Given the description of an element on the screen output the (x, y) to click on. 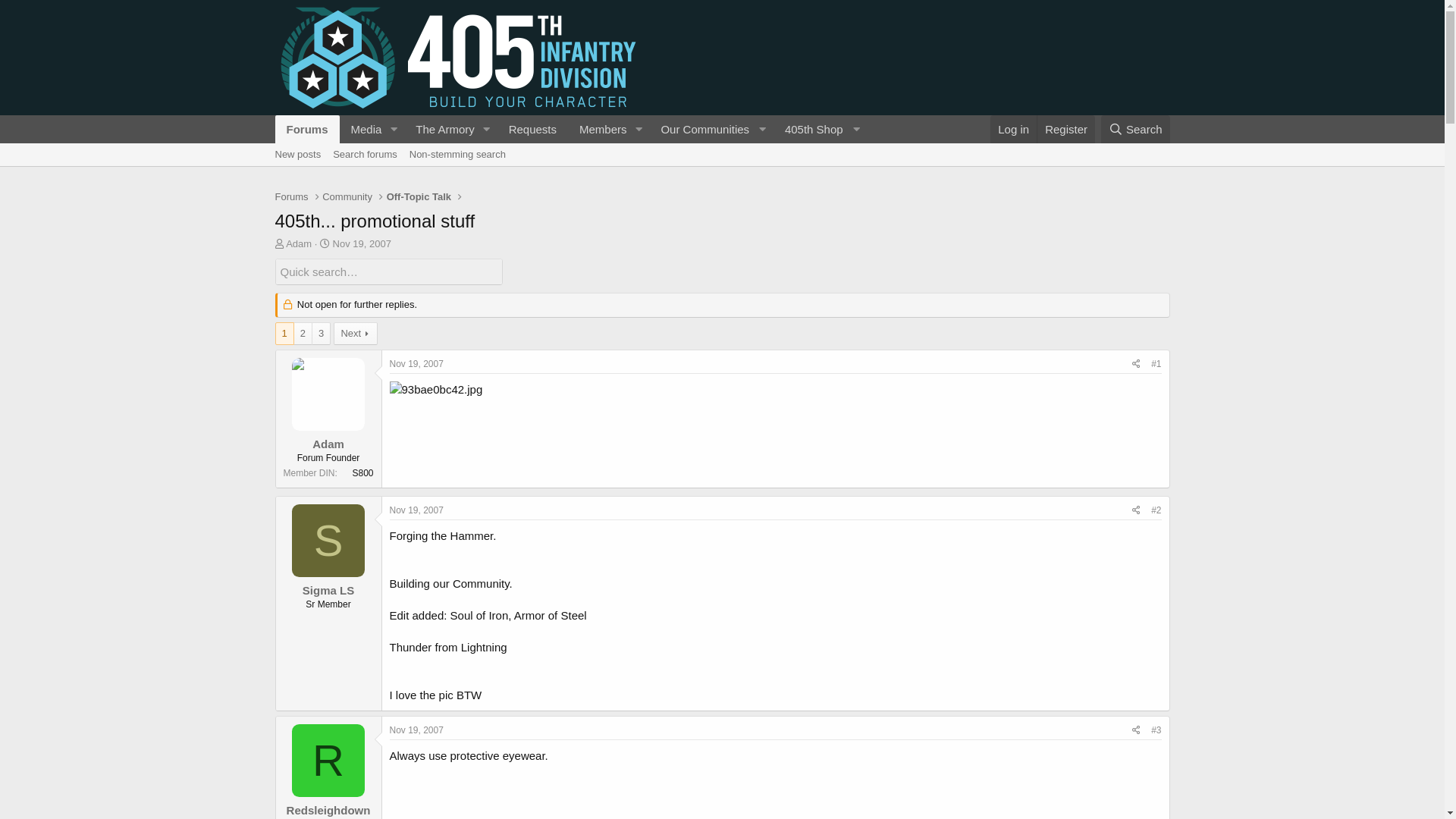
Search Element type: text (1135, 129)
Forums Element type: text (306, 129)
Sigma LS Element type: text (328, 589)
Community Element type: text (347, 196)
Adam Element type: text (298, 243)
#1 Element type: text (1156, 363)
Thread starter Element type: hover (278, 243)
Next Element type: text (355, 333)
Log in Element type: text (1013, 129)
Forums Element type: text (290, 196)
3 Element type: text (320, 333)
Our Communities Element type: text (710, 129)
Requests Element type: text (532, 129)
Nov 19, 2007 Element type: text (361, 243)
Nov 19, 2007 Element type: text (416, 510)
1 Element type: text (284, 333)
#2 Element type: text (1156, 510)
#3 Element type: text (1156, 729)
Start date Element type: hover (324, 243)
New posts Element type: text (297, 154)
Search forums Element type: text (364, 154)
S Element type: text (327, 540)
Register Element type: text (1065, 129)
R Element type: text (327, 760)
Media Element type: text (361, 129)
Nov 19, 2007 Element type: text (416, 729)
2 Element type: text (302, 333)
The Armory Element type: text (439, 129)
Nov 19, 2007 Element type: text (416, 363)
Members Element type: text (597, 129)
Redsleighdown Element type: text (328, 809)
Non-stemming search Element type: text (457, 154)
Off-Topic Talk Element type: text (418, 196)
Adam Element type: text (328, 443)
93bae0bc42.jpg Element type: hover (436, 389)
405th Shop Element type: text (820, 129)
